Given the description of an element on the screen output the (x, y) to click on. 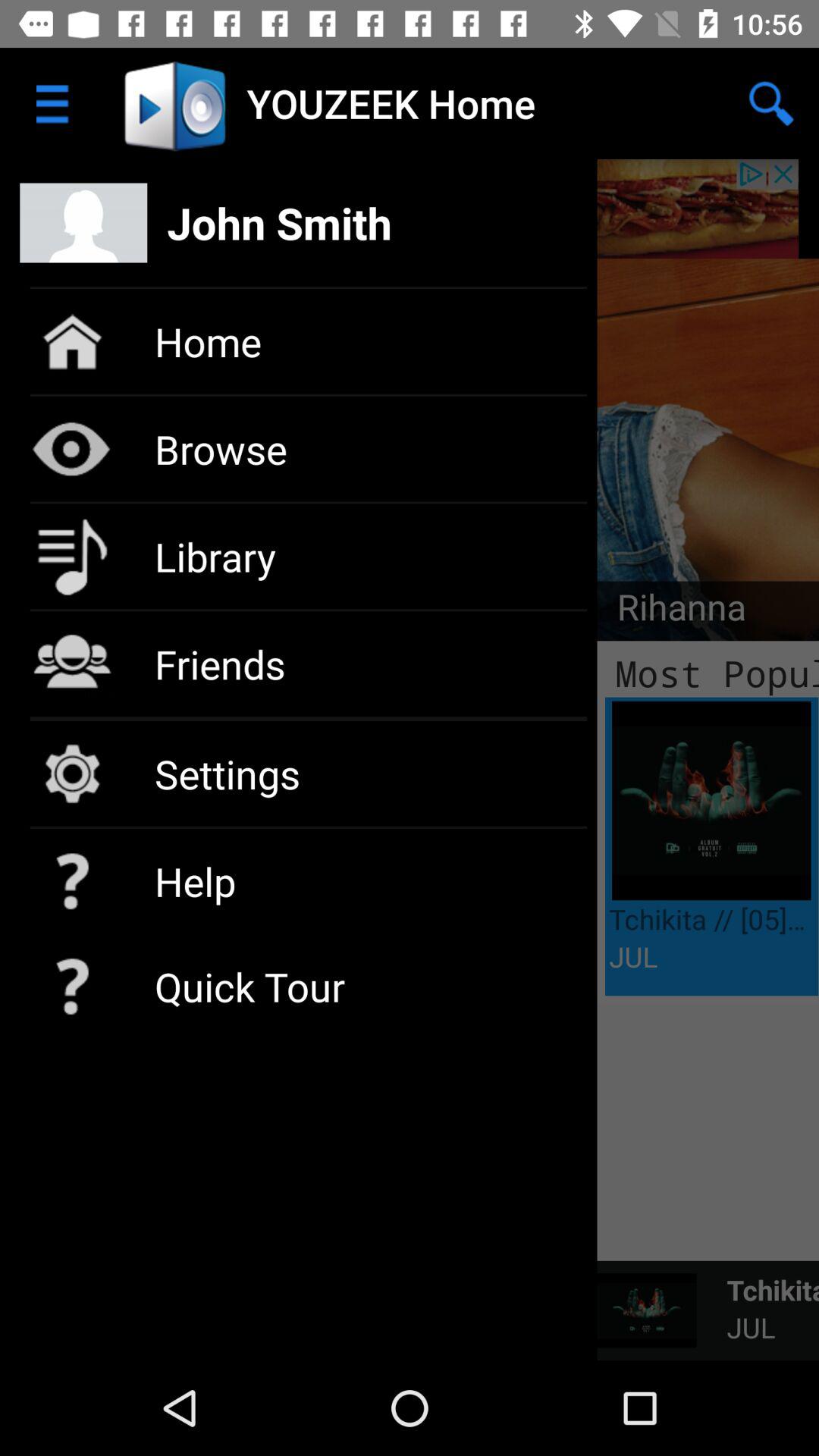
open your profile settings (409, 208)
